Given the description of an element on the screen output the (x, y) to click on. 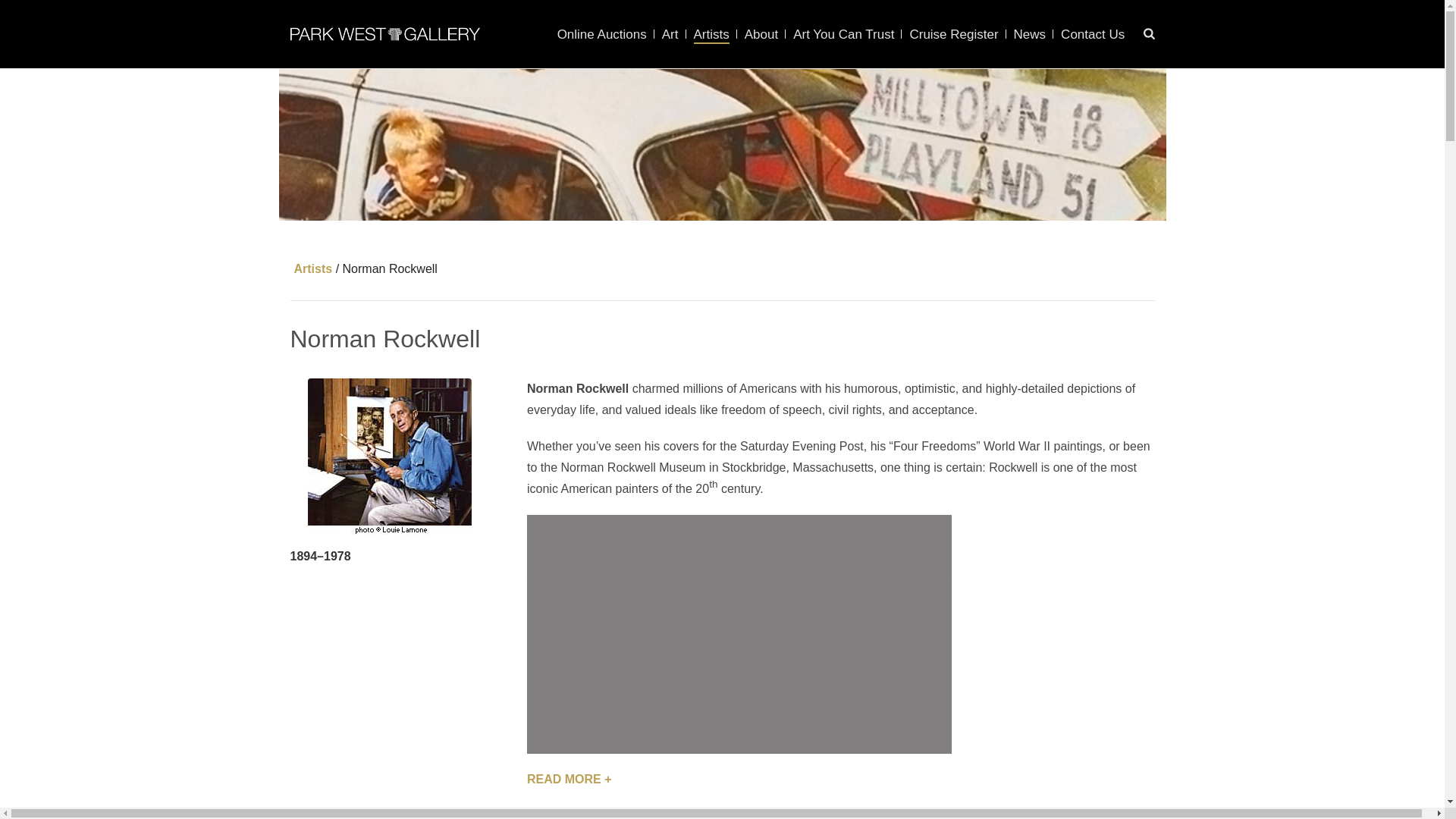
Art You Can Trust (843, 34)
Contact Us (1092, 34)
Fine art gallery and art auctions at sea. (384, 33)
Art (669, 34)
Contact Us (1092, 34)
About (761, 34)
Art You Can Trust (843, 34)
Art (669, 34)
Artists (710, 34)
News (1030, 34)
